Given the description of an element on the screen output the (x, y) to click on. 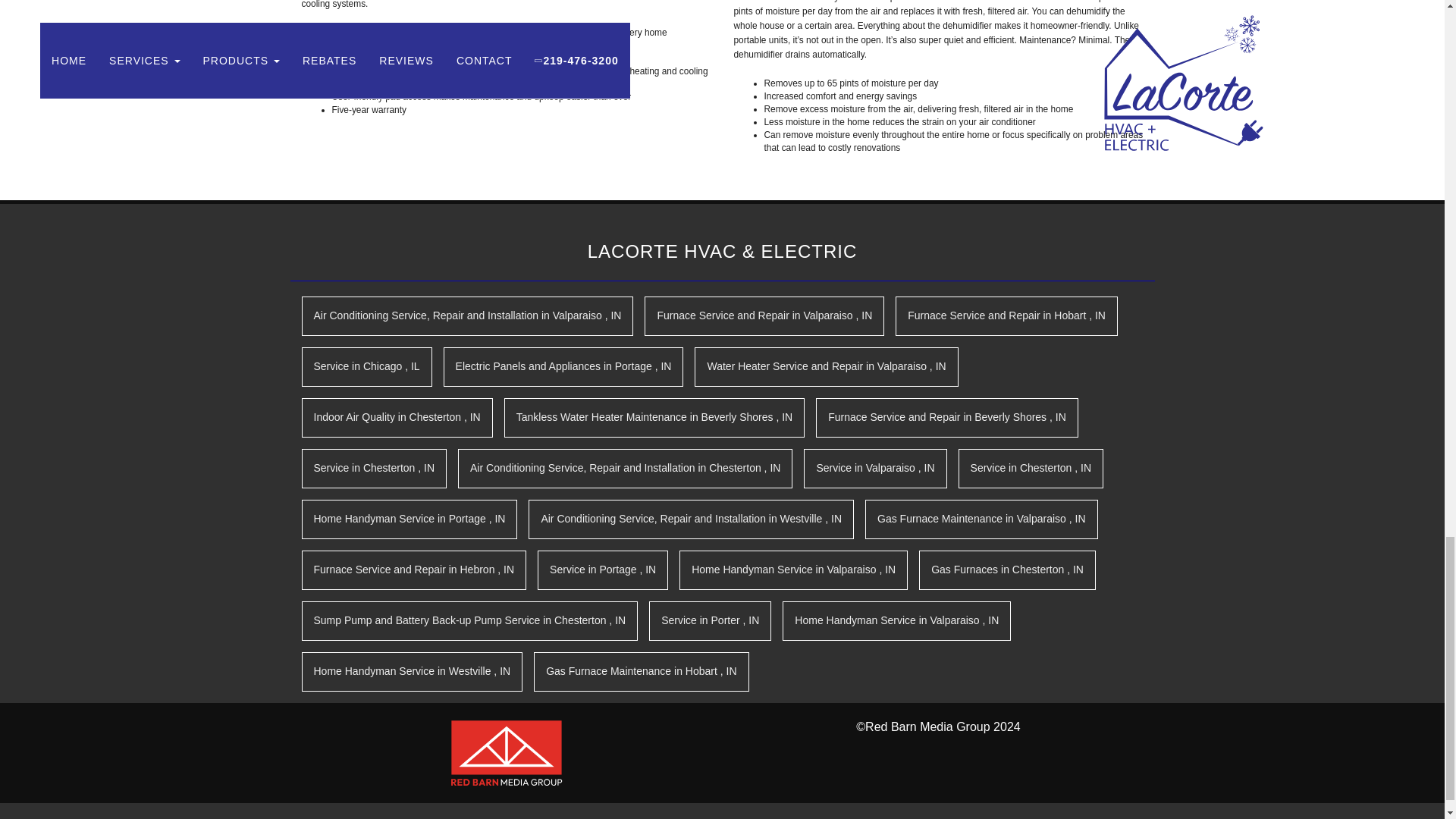
Electric Panels and Appliances in Portage , IN (564, 366)
Furnace Service and Repair in Hobart , IN (1006, 315)
Furnace Service and Repair in Valparaiso , IN (764, 315)
Water Heater Service and Repair in Valparaiso , IN (826, 366)
Service in Chicago , IL (366, 366)
